Given the description of an element on the screen output the (x, y) to click on. 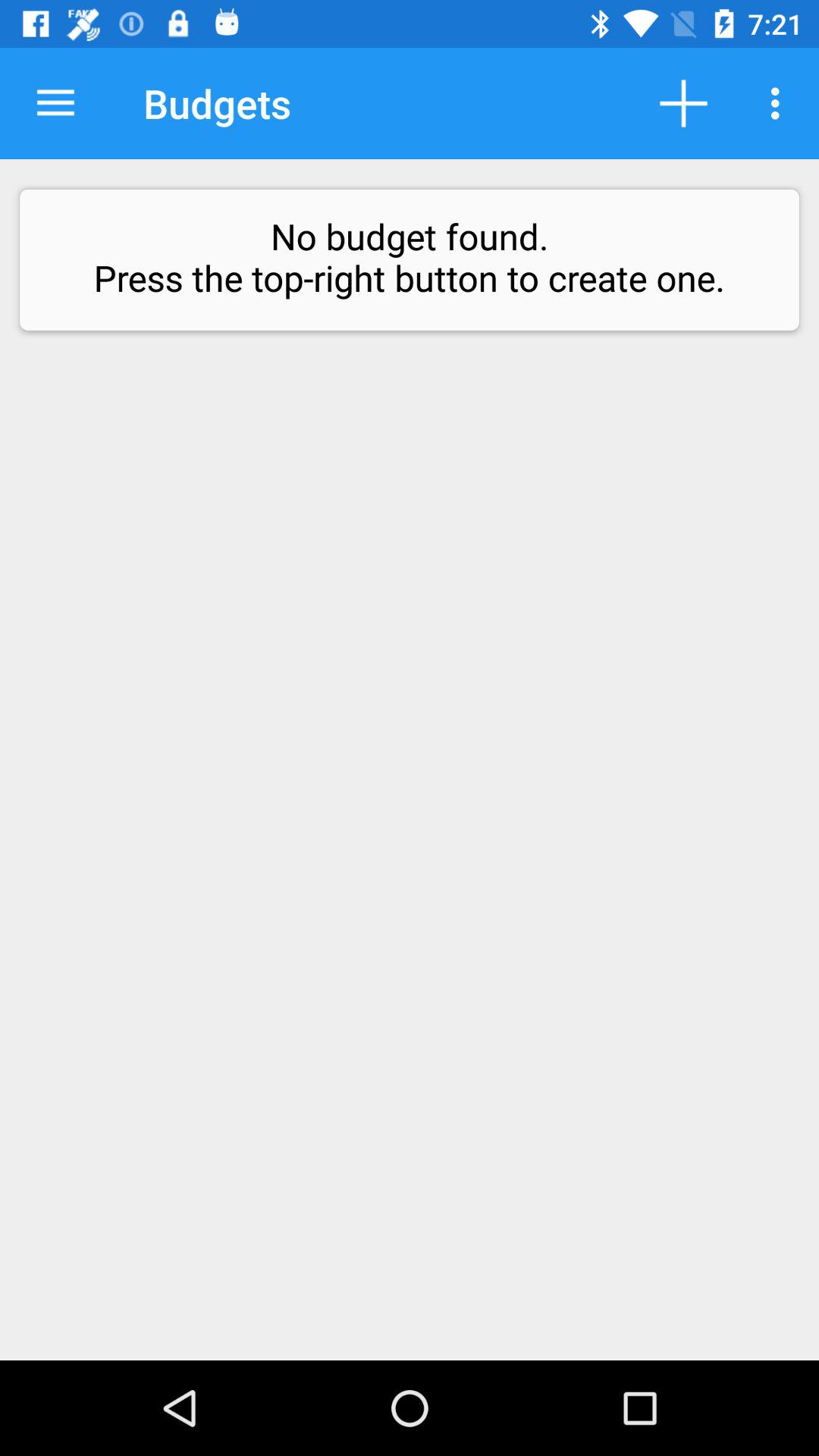
choose the icon above the no budget found (55, 103)
